Given the description of an element on the screen output the (x, y) to click on. 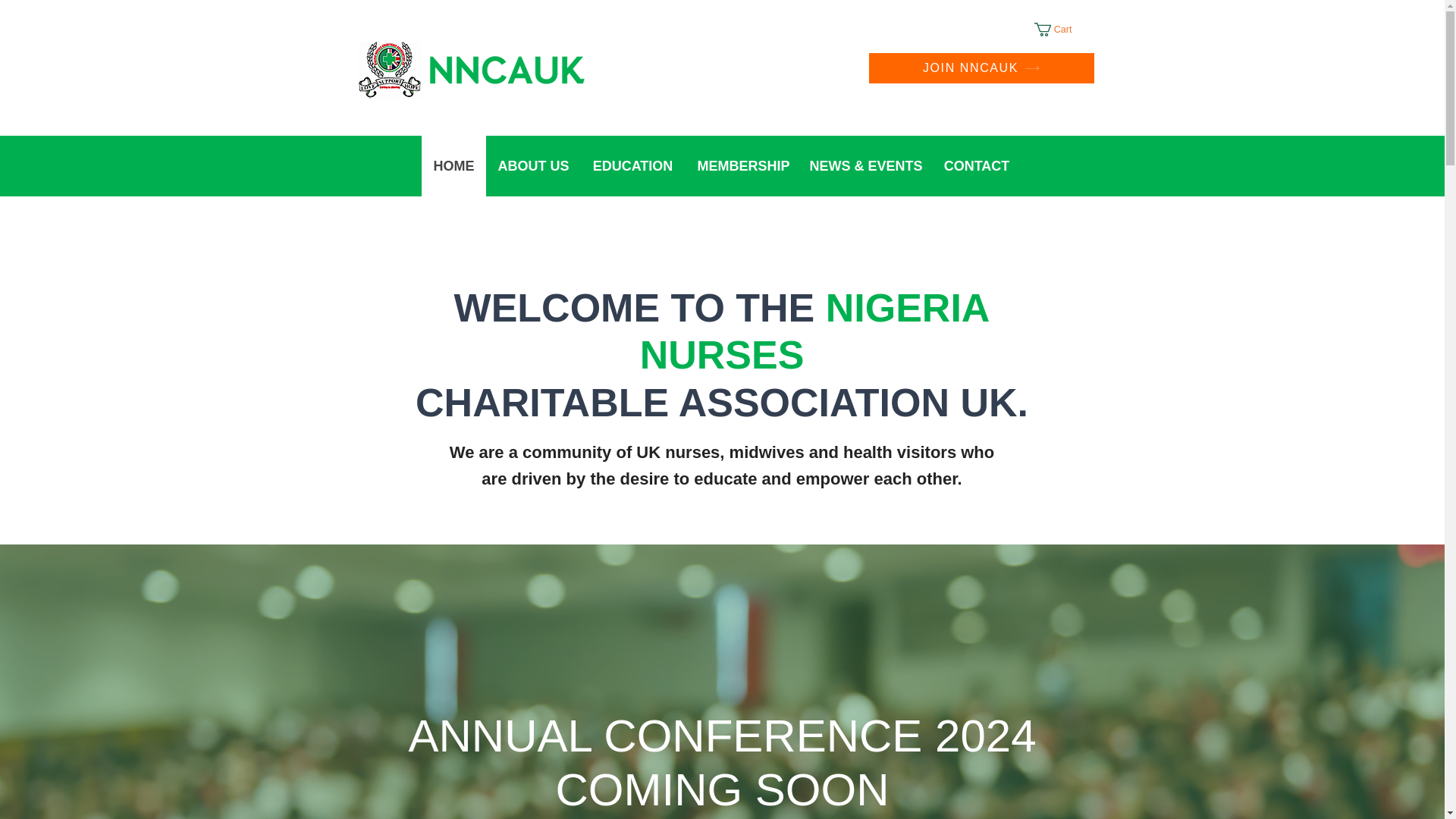
Cart (1061, 29)
MEMBERSHIP (741, 165)
EDUCATION (631, 165)
HOME (454, 165)
CONTACT (976, 165)
JOIN NNCAUK (981, 68)
ABOUT US (531, 165)
Cart (1061, 29)
